Given the description of an element on the screen output the (x, y) to click on. 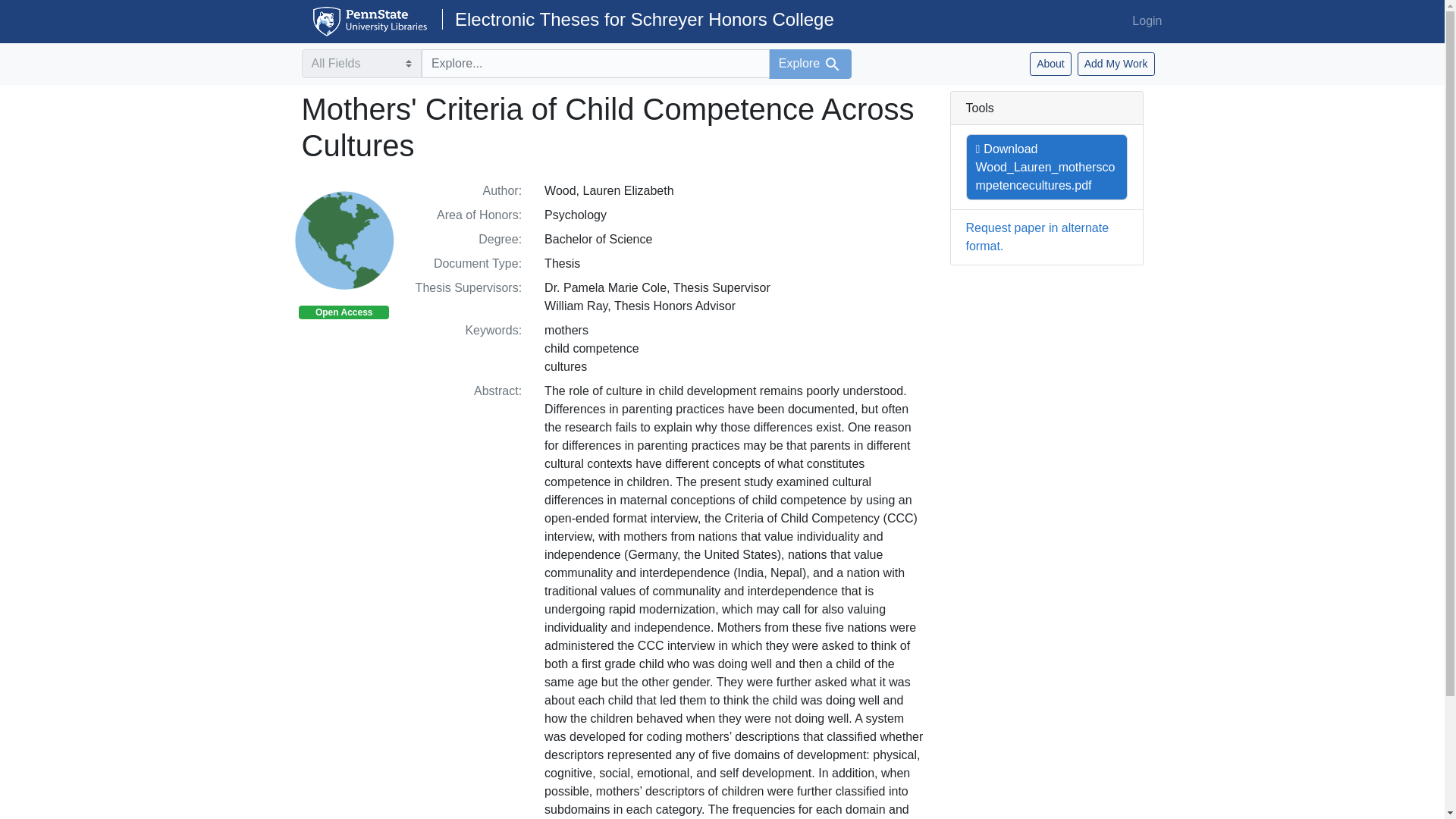
About (1050, 64)
Skip to main content (39, 9)
Login (1146, 20)
Electronic Theses for Schreyer Honors College (638, 19)
Add My Work (1115, 64)
Skip to search (37, 9)
Search (832, 64)
Request paper in alternate format. (1037, 236)
Targeted search options (361, 63)
Explore Search (809, 63)
